Given the description of an element on the screen output the (x, y) to click on. 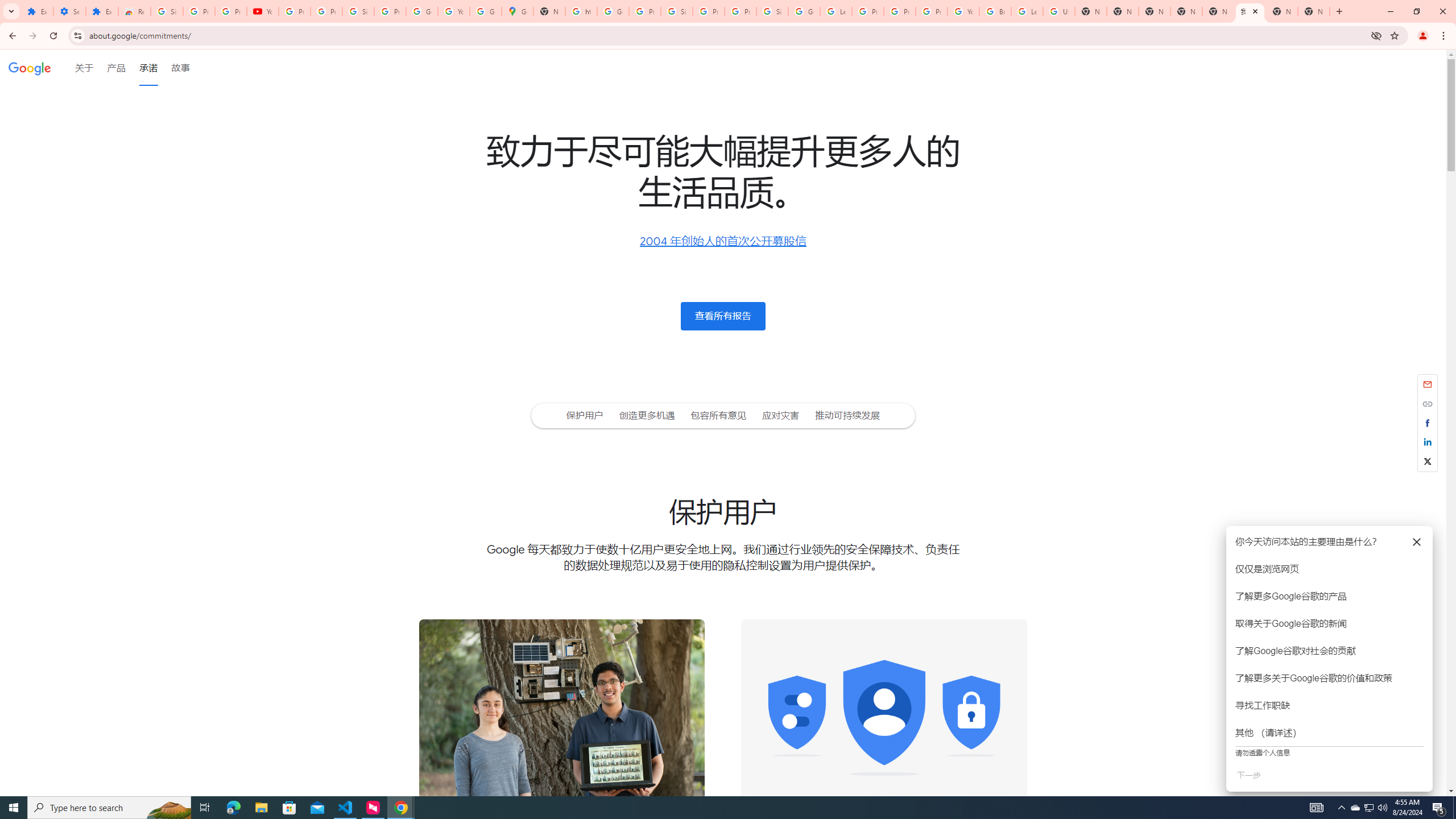
Privacy Help Center - Policies Help (868, 11)
New Tab (1313, 11)
Sign in - Google Accounts (772, 11)
YouTube (963, 11)
